Given the description of an element on the screen output the (x, y) to click on. 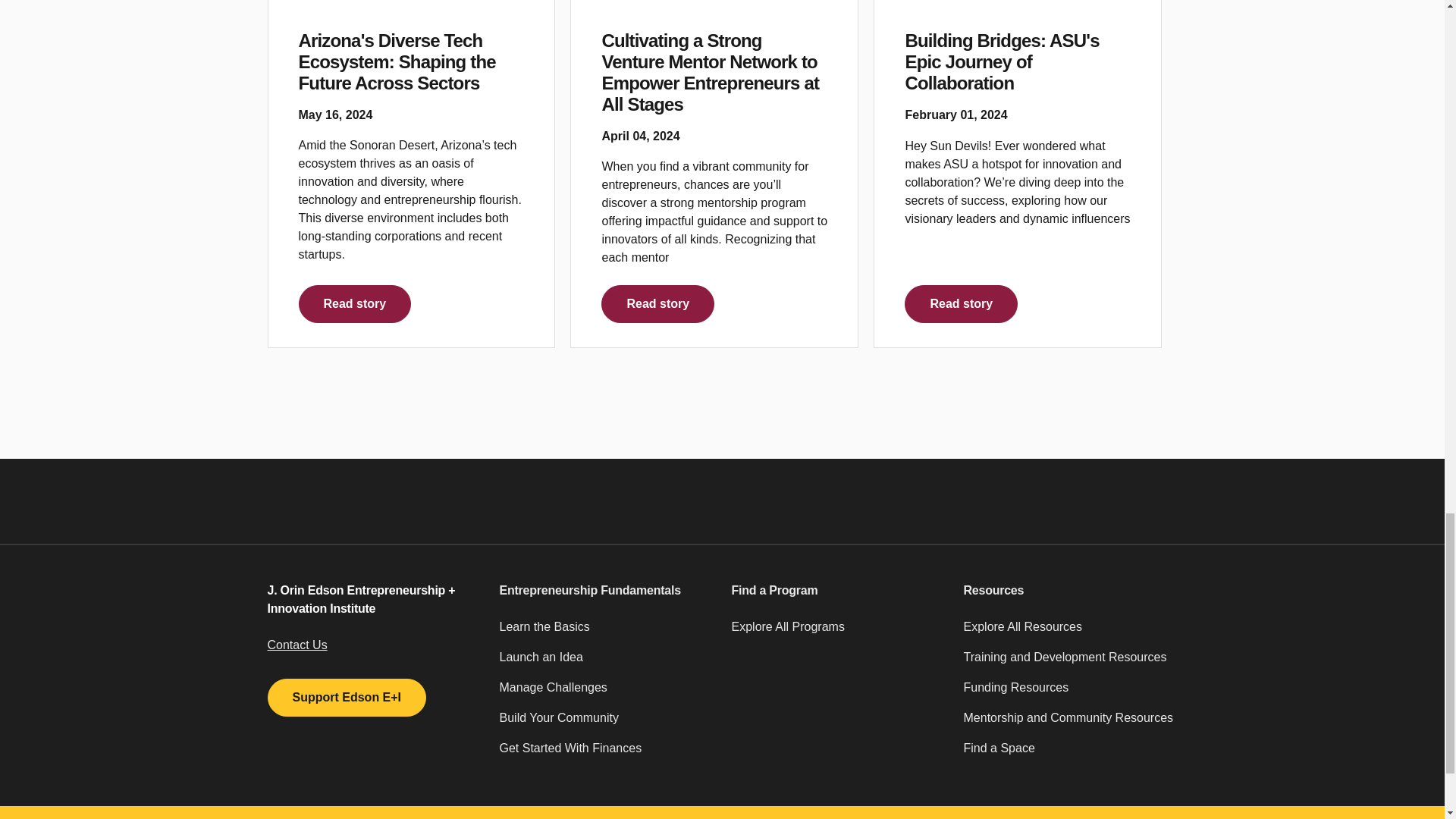
Contact Us (296, 644)
Mentorship and Community Resources (1069, 724)
Learn the Basics (606, 633)
Manage Challenges (606, 693)
Training and Development Resources (1069, 663)
Read story (355, 303)
Read story (960, 303)
Manage Challenges (606, 693)
Get Started With Finances (606, 754)
Learn the Basics (606, 633)
